Given the description of an element on the screen output the (x, y) to click on. 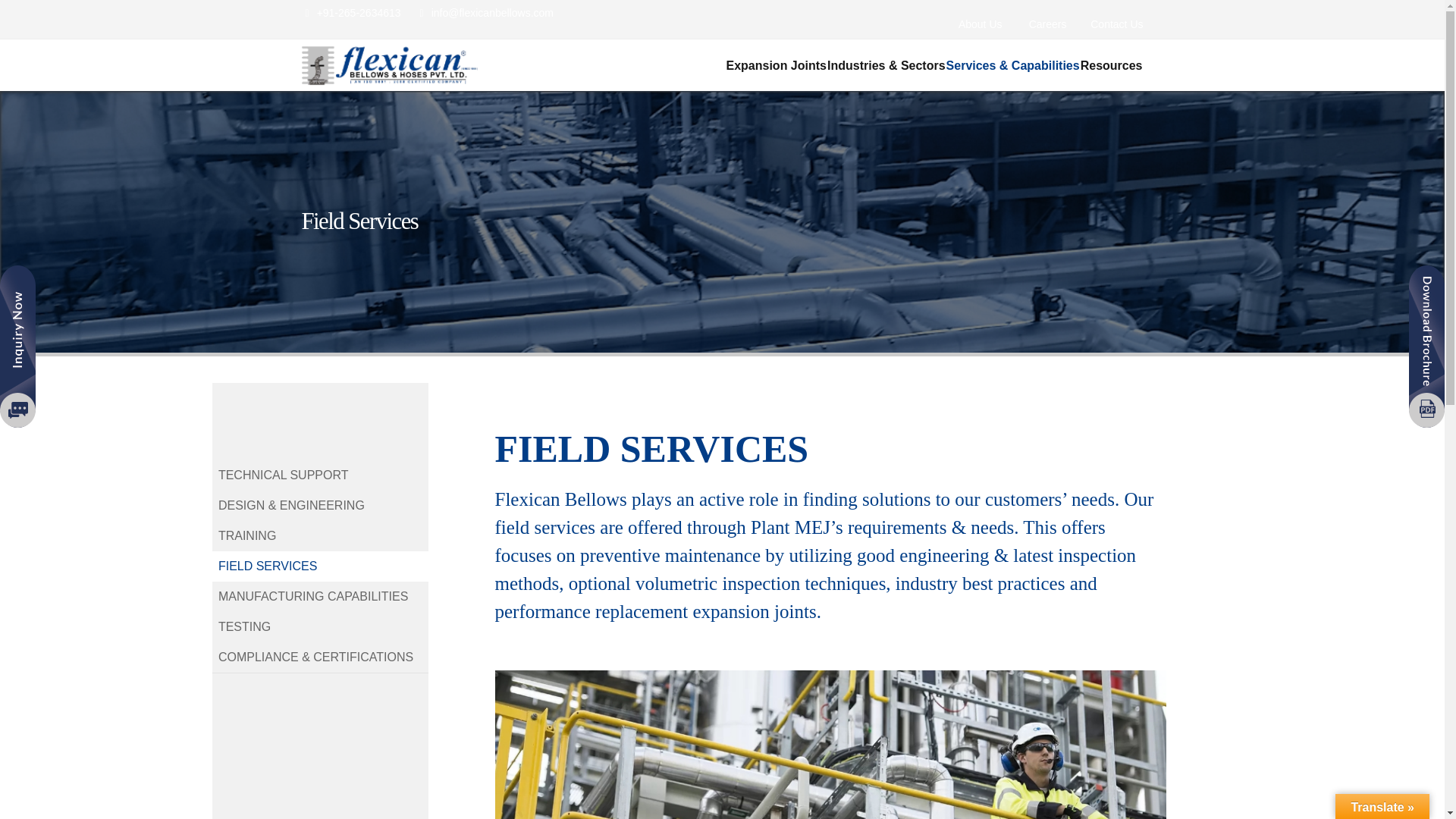
About Us (980, 23)
Resources (1111, 65)
Flexican Bellows -  (389, 65)
Expansion Joints (776, 65)
Careers (1048, 23)
